Given the description of an element on the screen output the (x, y) to click on. 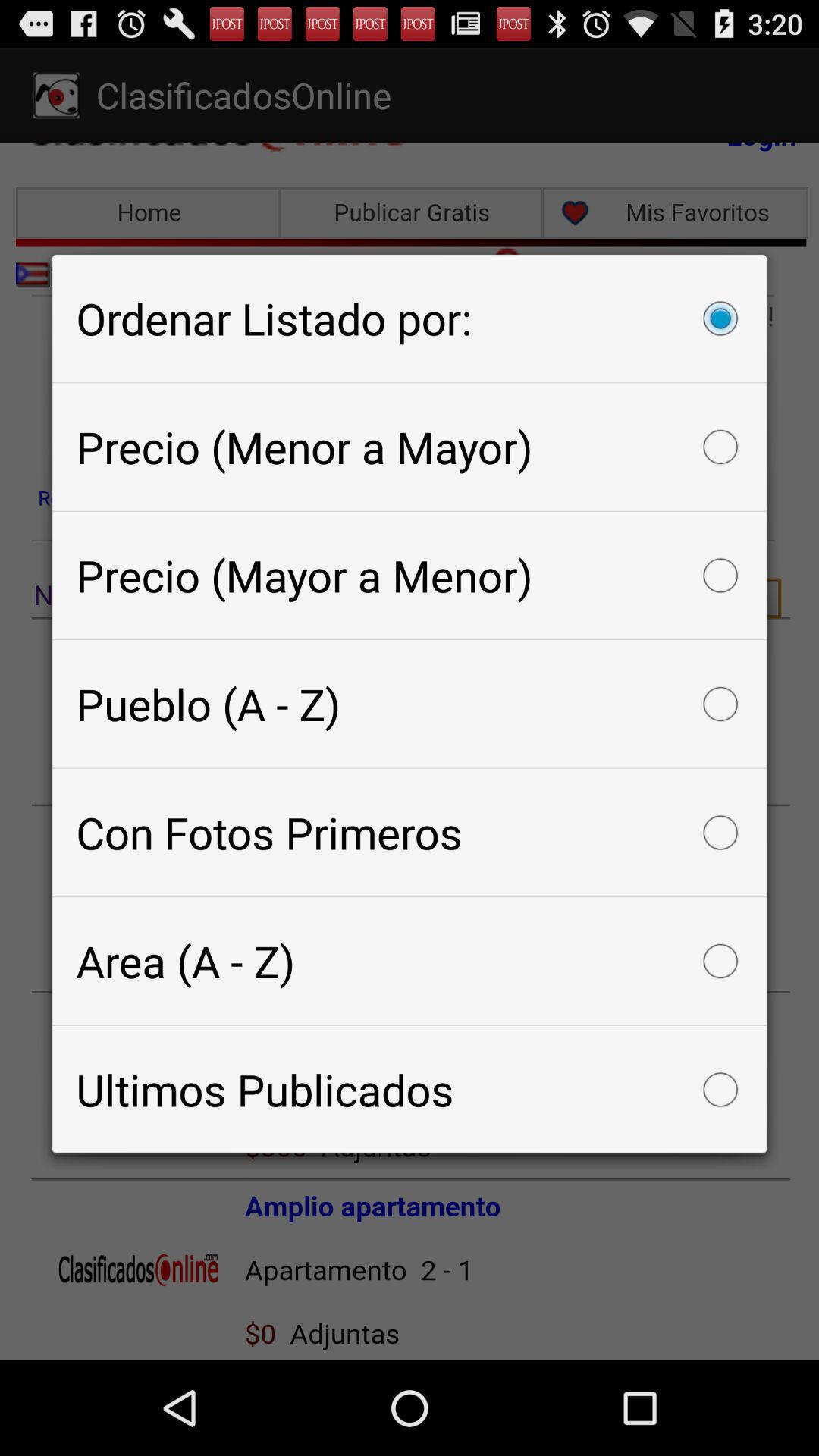
launch icon at the bottom (409, 1089)
